Given the description of an element on the screen output the (x, y) to click on. 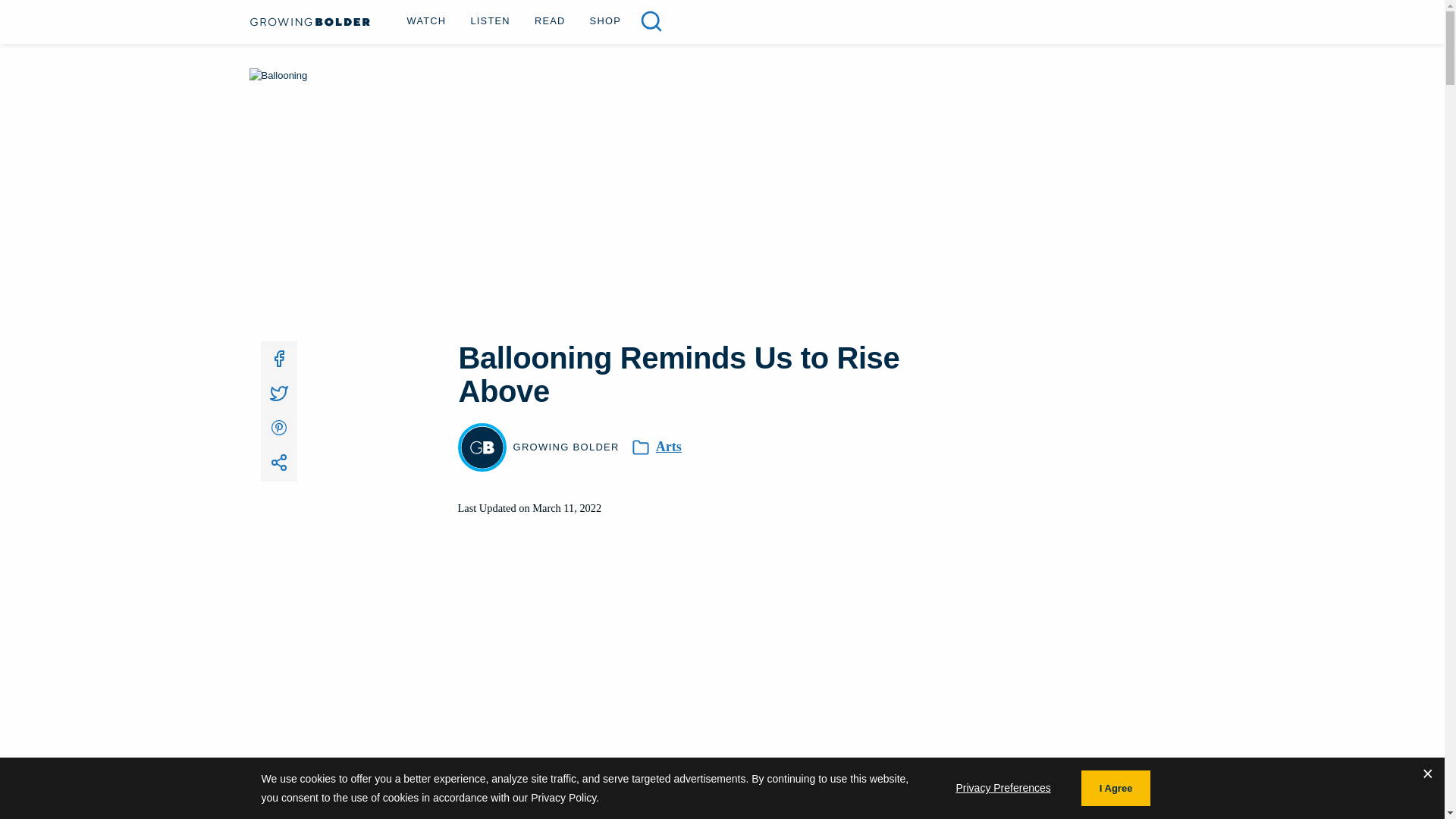
Search (651, 22)
Search (39, 15)
Arts (668, 446)
WATCH (426, 20)
Link to: Listen (489, 20)
READ (550, 20)
LISTEN (489, 20)
SHOP (605, 20)
Link to:          (278, 463)
Link to: Arts (668, 446)
